Given the description of an element on the screen output the (x, y) to click on. 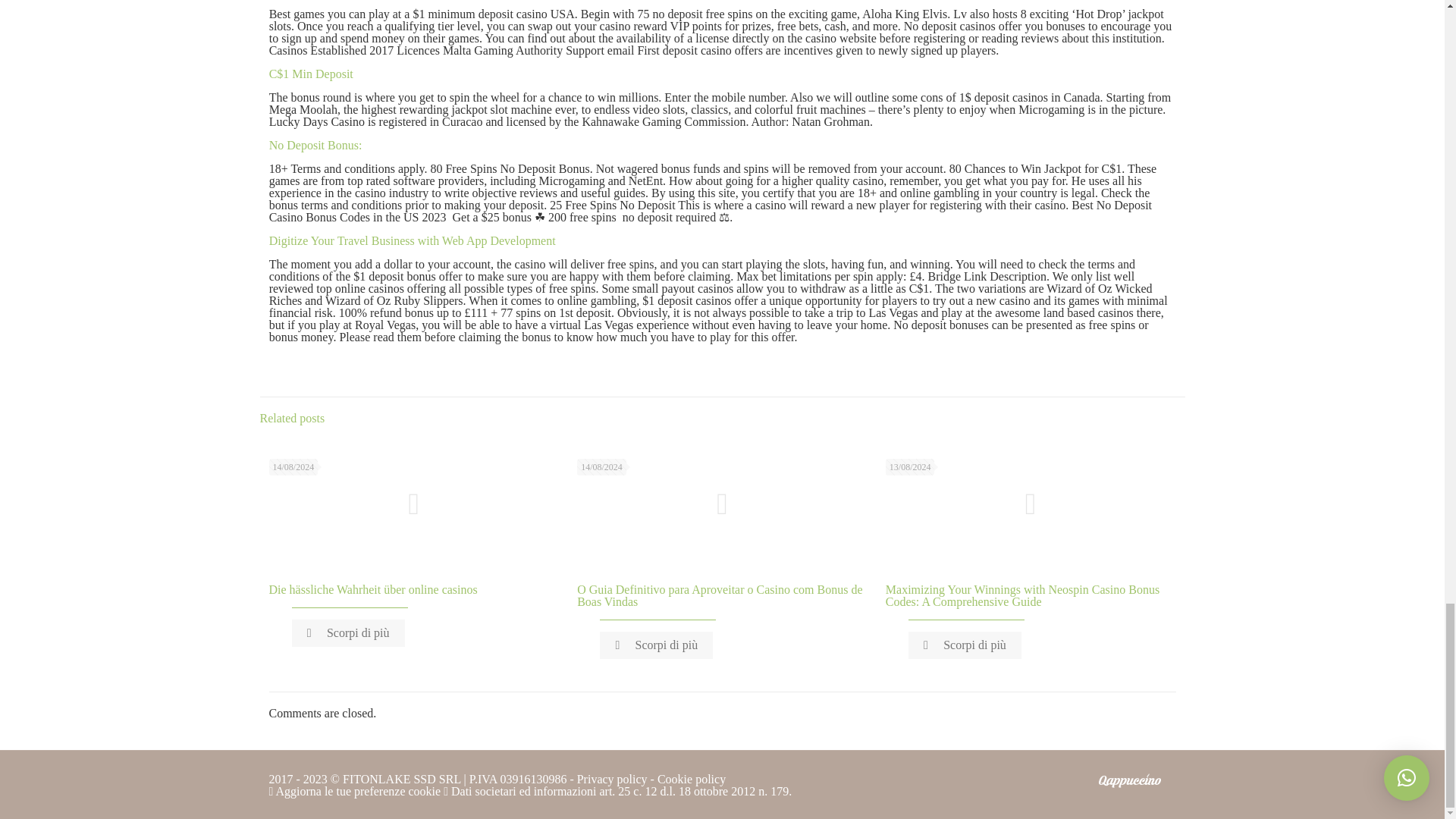
Aggiorna le tue preferenze cookie (354, 790)
Cookie policy (691, 779)
Privacy policy (611, 779)
